Given the description of an element on the screen output the (x, y) to click on. 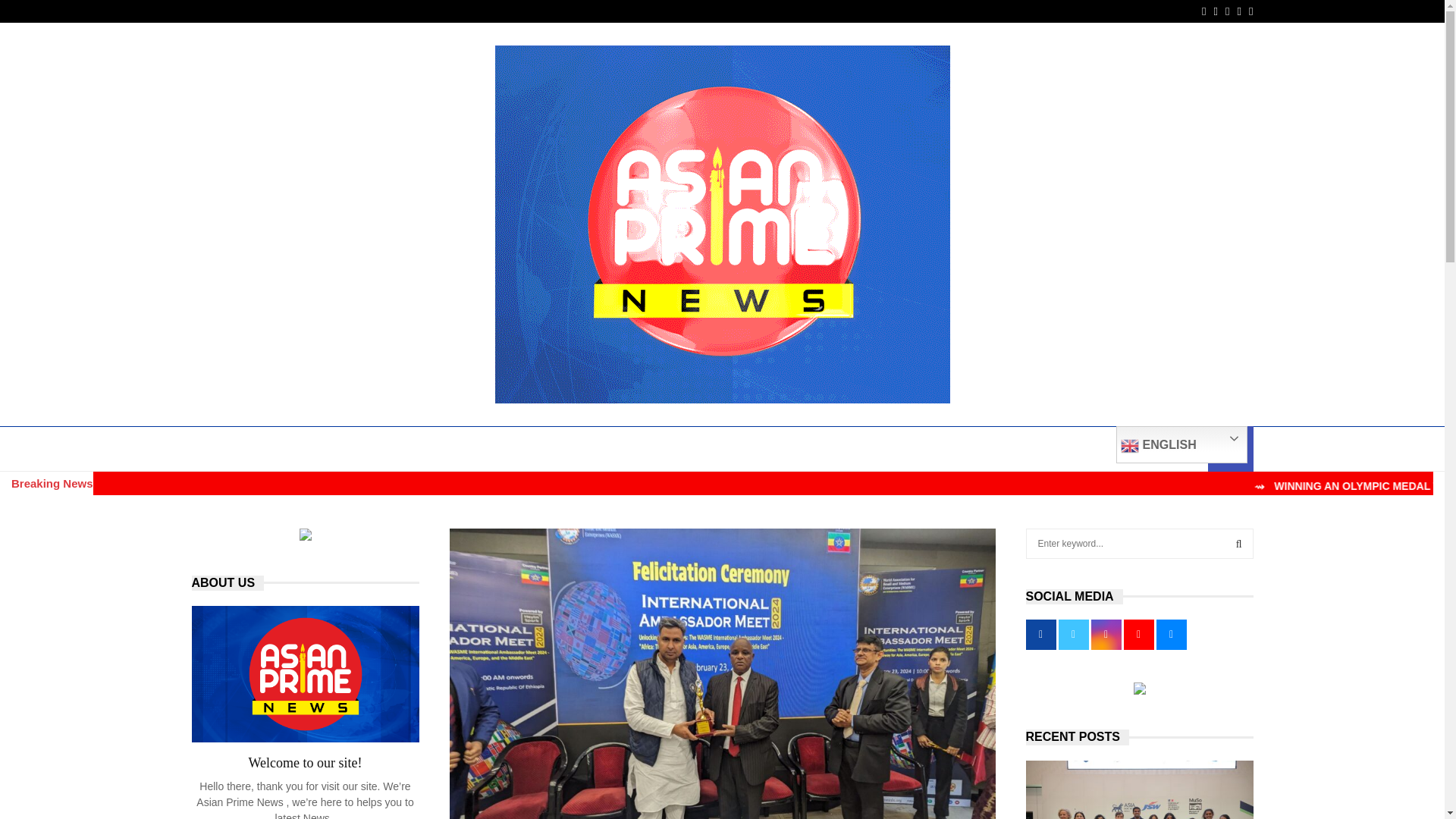
LIFESTYLE (807, 448)
NEW PRODUCTS (901, 448)
SPORTS (733, 448)
REAL ESTATE (1002, 448)
FINANCE (445, 448)
MORE (1082, 448)
BUSINESS (287, 448)
ENGLISH (1181, 444)
ENTERTAINMENT (536, 448)
EDUCATION (368, 448)
HOME (218, 448)
